Given the description of an element on the screen output the (x, y) to click on. 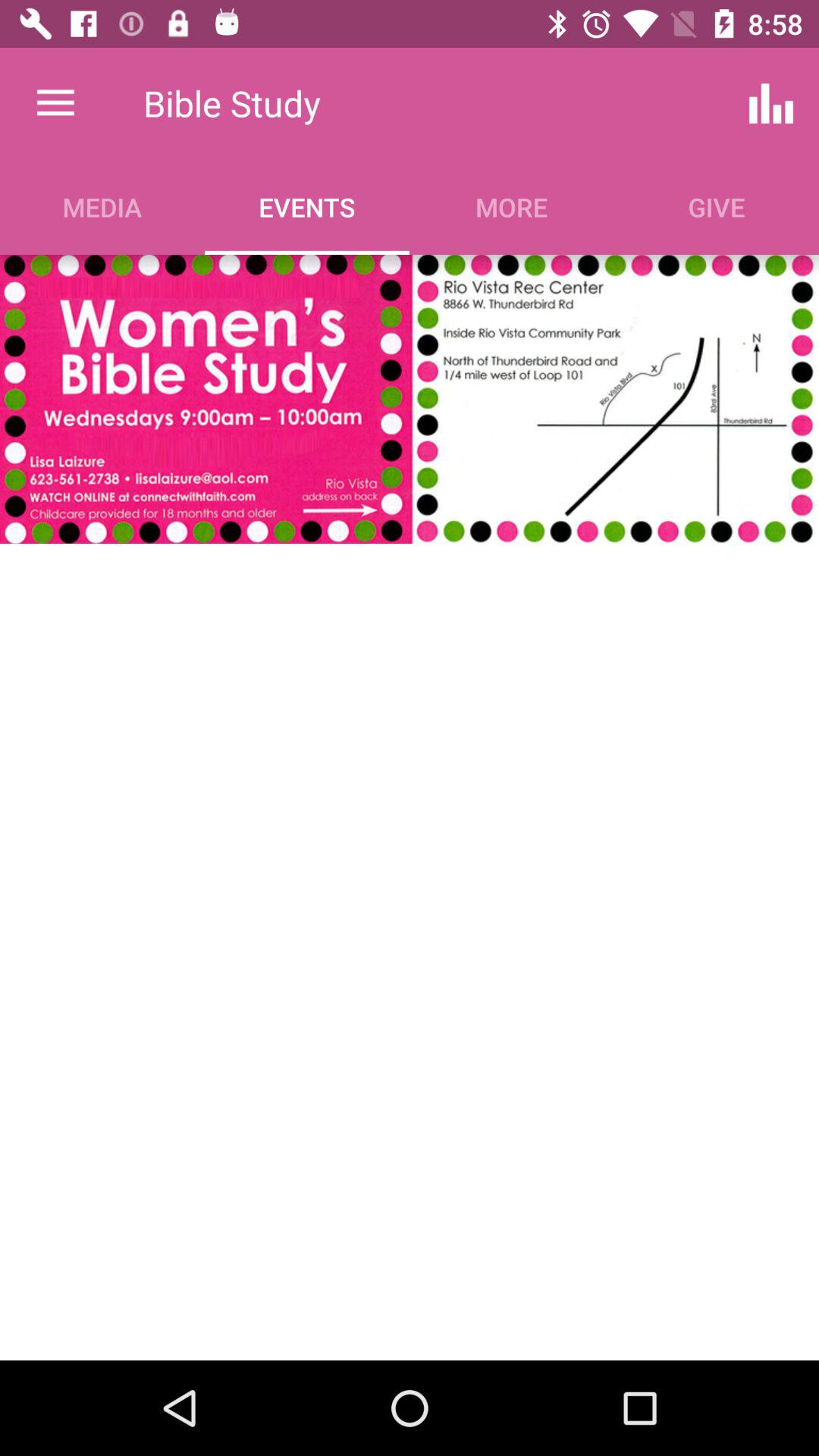
turn on item next to the bible study icon (55, 103)
